Given the description of an element on the screen output the (x, y) to click on. 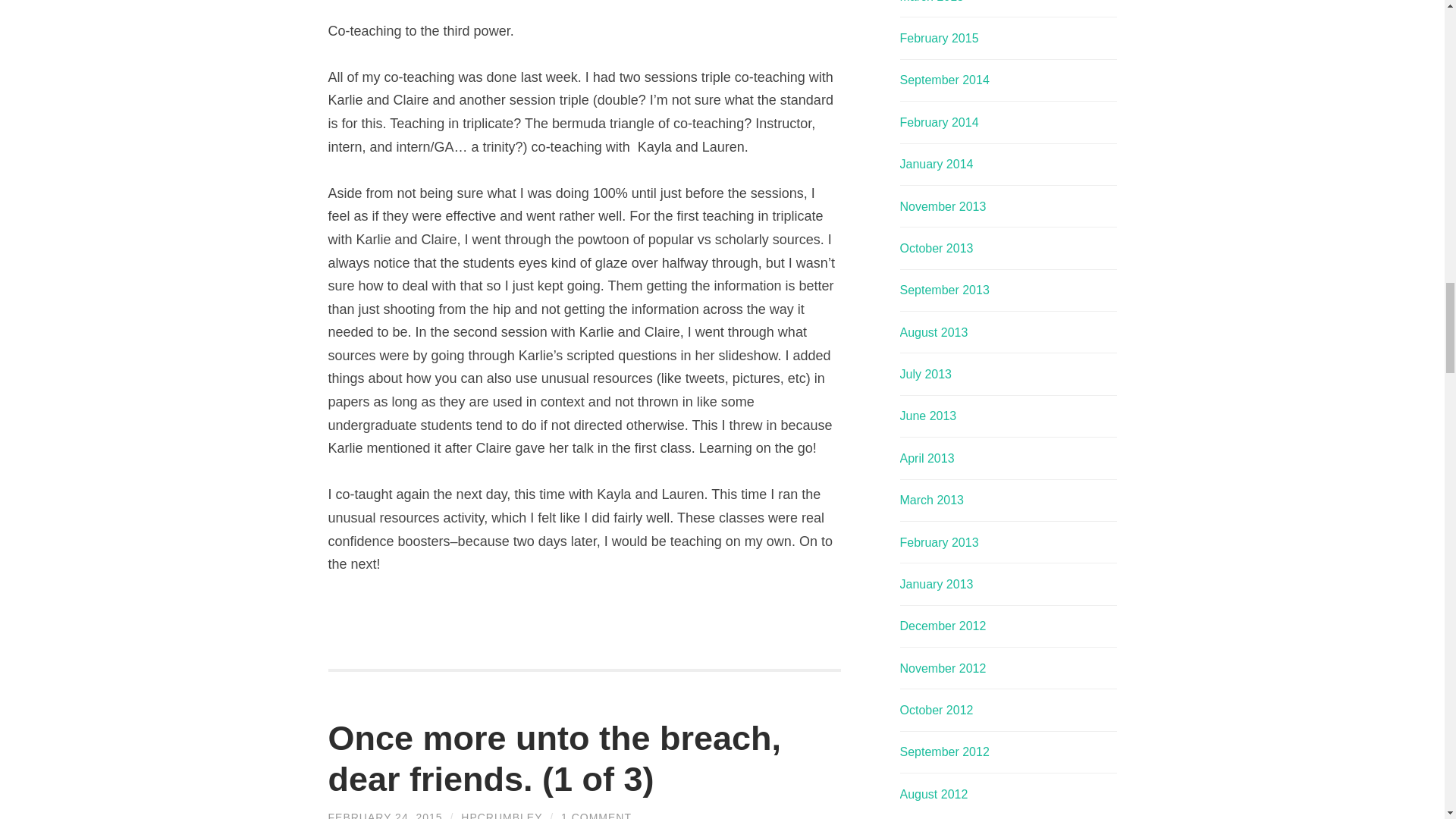
1 COMMENT (595, 815)
HPCRUMBLEY (501, 815)
